Given the description of an element on the screen output the (x, y) to click on. 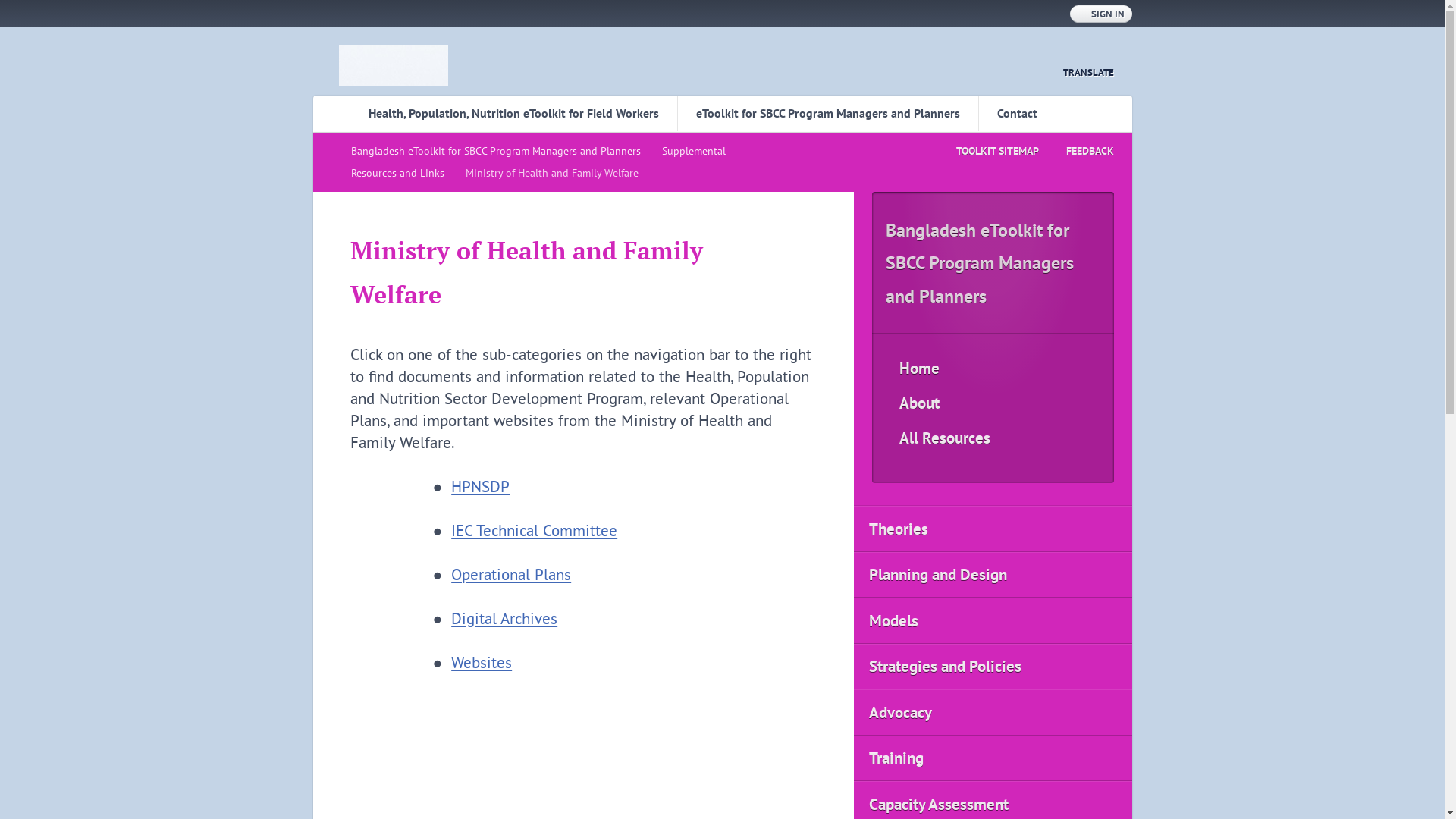
Operational Plans Element type: text (511, 574)
TOOLKIT SITEMAP Element type: text (983, 151)
Contact Element type: text (1016, 113)
Advocacy Element type: text (992, 712)
Websites Element type: text (481, 662)
IEC Technical Committee Element type: text (534, 530)
Training Element type: text (992, 758)
Home Element type: text (331, 113)
eToolkit for SBCC Program Managers and Planners Element type: text (827, 113)
SIGN IN Element type: text (1100, 13)
Health, Population, Nutrition eToolkit for Field Workers Element type: text (512, 113)
Home Element type: text (992, 368)
TRANSLATE Element type: text (1078, 72)
Skip to main content Element type: text (70, 10)
Supplemental Resources and Links Element type: text (537, 161)
Theories Element type: text (992, 528)
About Element type: text (992, 403)
Bangladesh eToolkit for SBCC Program Managers and Planners Element type: text (498, 150)
Digital Archives Element type: text (504, 618)
Planning and Design Element type: text (992, 575)
HPNSDP Element type: text (480, 486)
All Resources Element type: text (992, 438)
Models Element type: text (992, 620)
Strategies and Policies Element type: text (992, 666)
Home Element type: hover (392, 65)
FEEDBACK Element type: text (1075, 151)
click to expand Element type: hover (1136, 671)
Bangladesh eToolkit for SBCC Program Managers and Planners Element type: text (981, 537)
